Given the description of an element on the screen output the (x, y) to click on. 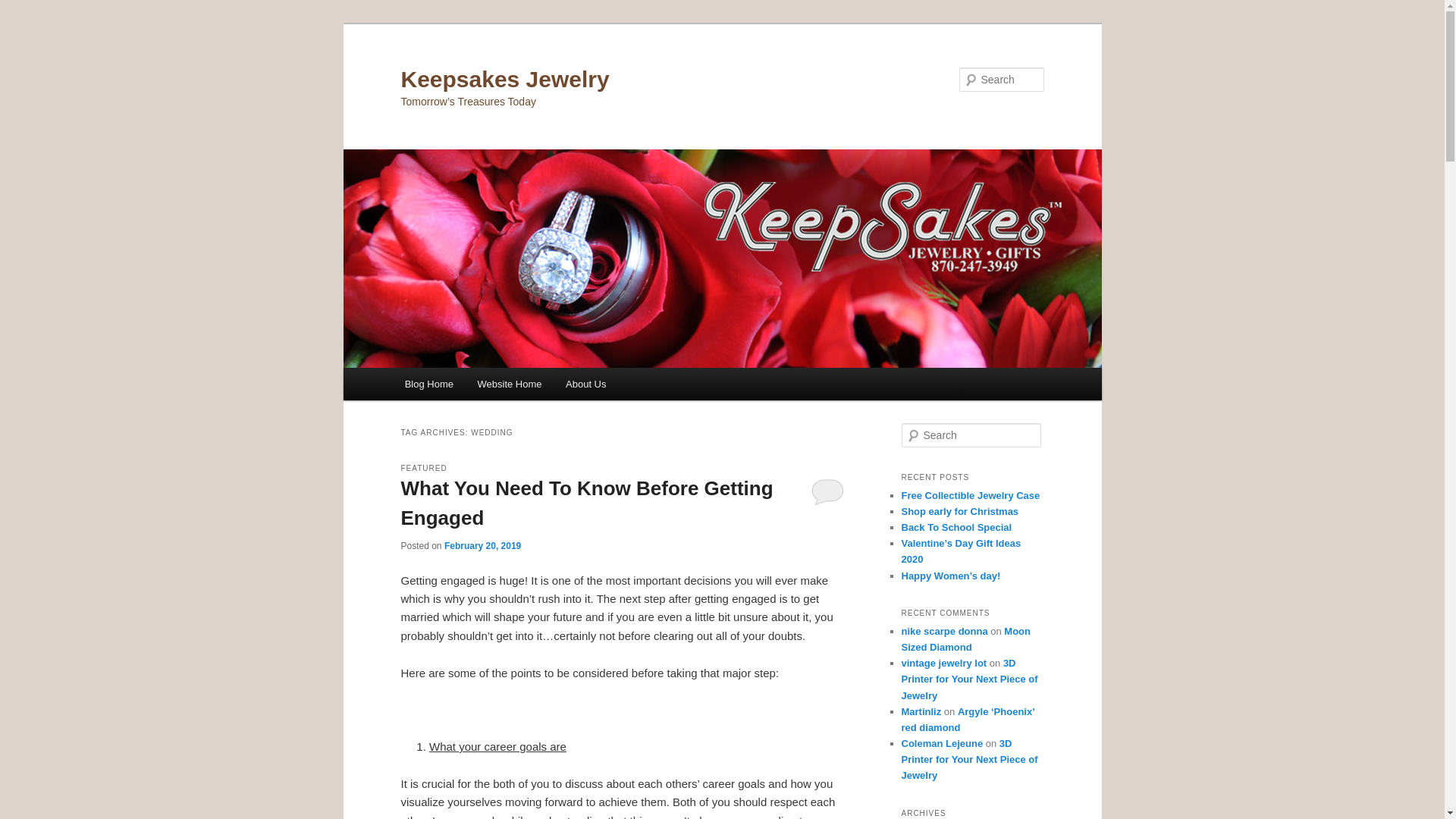
11:30 am (482, 545)
Keepsakes Jewelry (504, 78)
Skip to secondary content (479, 386)
About Us (585, 383)
Keepsakes Jewelry (504, 78)
3D Printer for Your Next Piece of Jewelry (968, 759)
nike scarpe donna (944, 631)
Search (24, 8)
Skip to secondary content (479, 386)
vintage jewelry lot (944, 663)
Back To School Special (956, 527)
Blog Home (429, 383)
Coleman Lejeune (941, 743)
Moon Sized Diamond (965, 638)
Skip to primary content (472, 386)
